Given the description of an element on the screen output the (x, y) to click on. 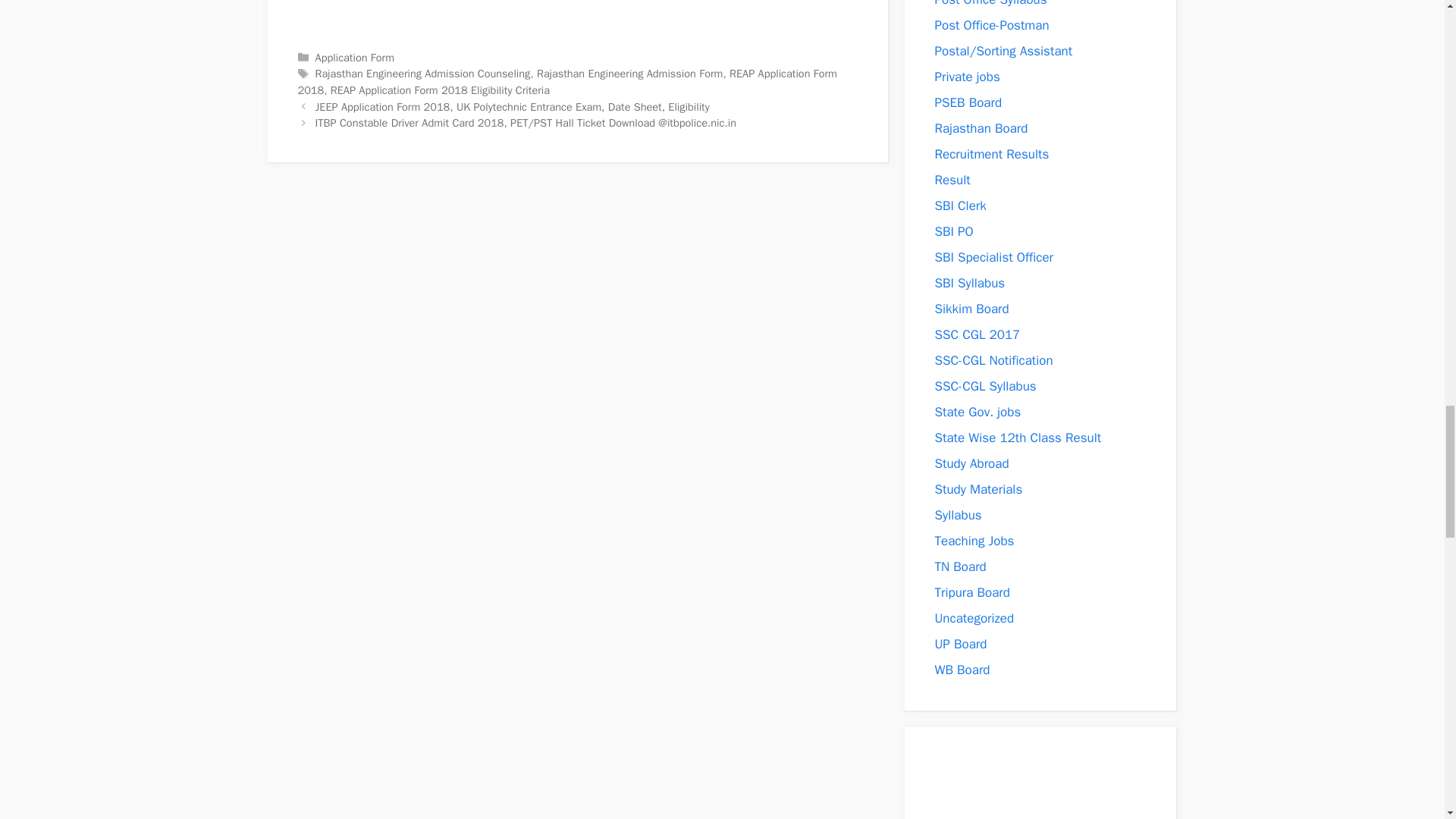
Rajasthan Engineering Admission Form (629, 73)
Rajasthan Engineering Admission Counseling (423, 73)
REAP Application Form 2018 Eligibility Criteria (440, 90)
Application Form (354, 57)
REAP Application Form 2018 (566, 81)
